Given the description of an element on the screen output the (x, y) to click on. 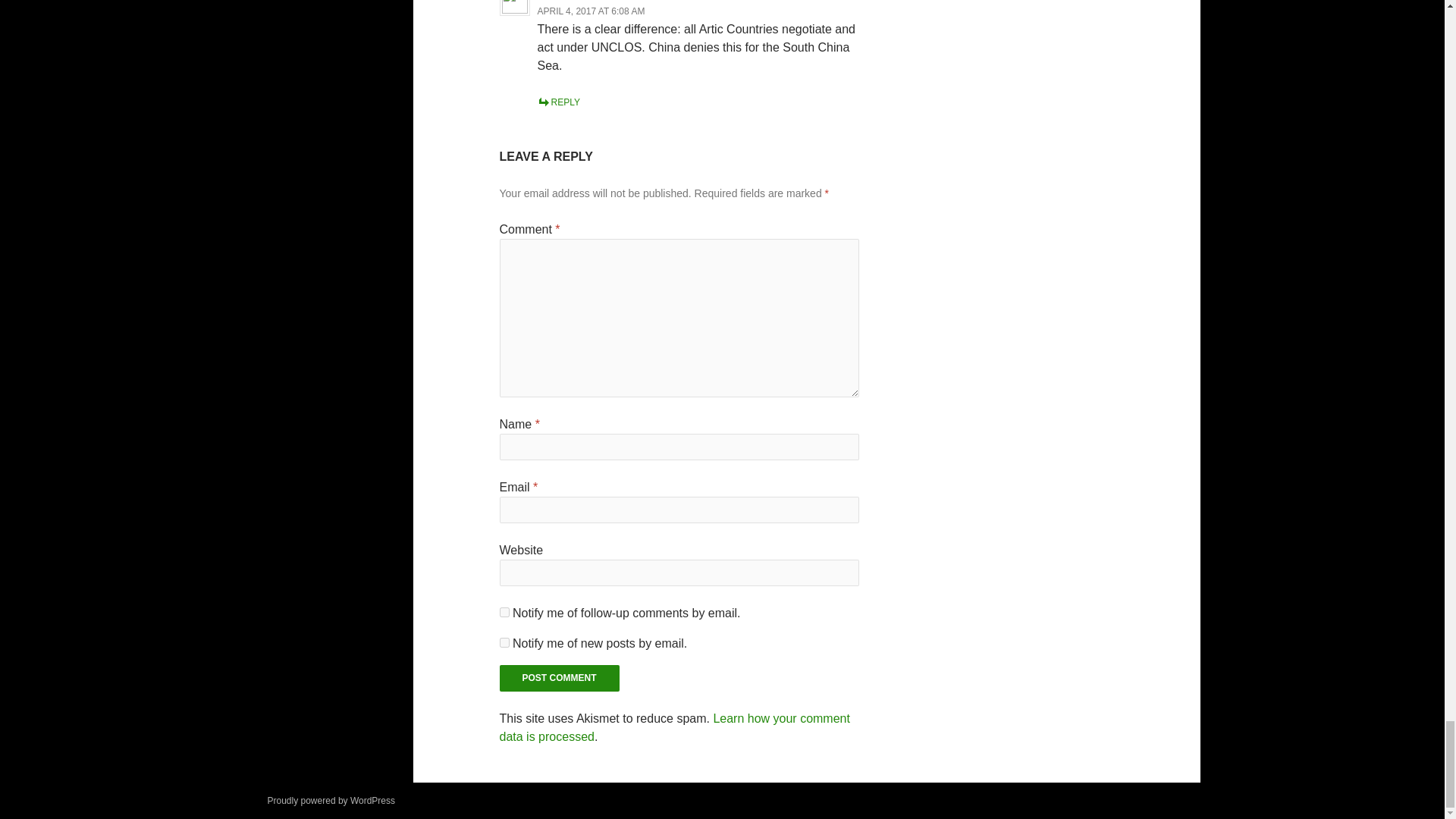
subscribe (504, 612)
subscribe (504, 642)
Post Comment (559, 678)
